Given the description of an element on the screen output the (x, y) to click on. 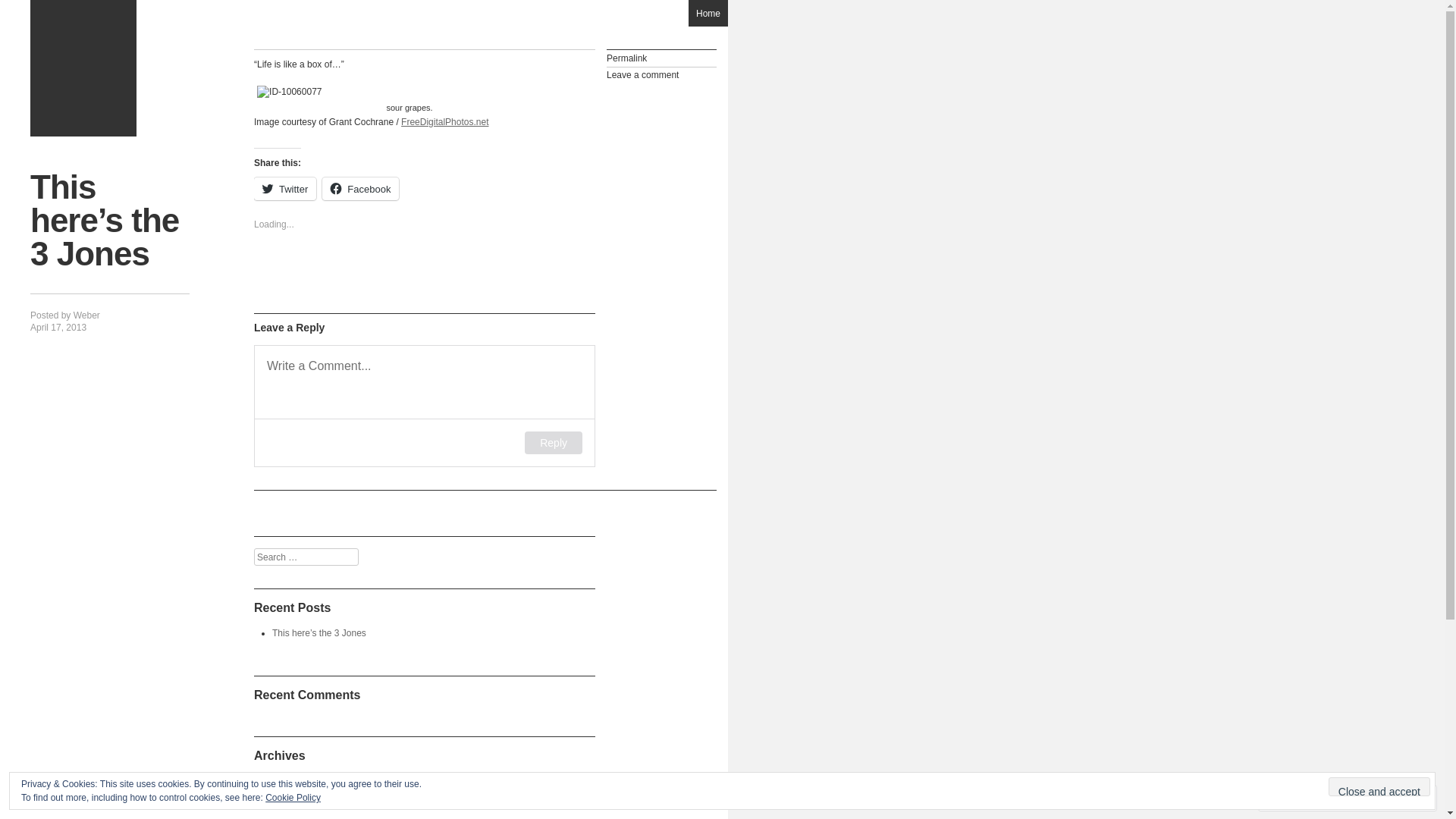
April 17, 2013 Element type: text (58, 327)
Close and accept Element type: text (1379, 786)
Follow Element type: text (1374, 797)
FreeDigitalPhotos.net Element type: text (444, 121)
sour grapes Element type: hover (409, 91)
Leave a comment Element type: text (661, 75)
Reply Element type: text (553, 442)
Facebook Element type: text (360, 188)
Permalink Element type: text (661, 58)
April 2013 Element type: text (292, 780)
Comment Element type: text (1299, 797)
Home Element type: text (708, 13)
Twitter Element type: text (285, 188)
Cookie Policy Element type: text (292, 797)
The 3 Jones Boys Element type: hover (83, 68)
Search Element type: text (25, 9)
Weber Element type: text (86, 315)
